Given the description of an element on the screen output the (x, y) to click on. 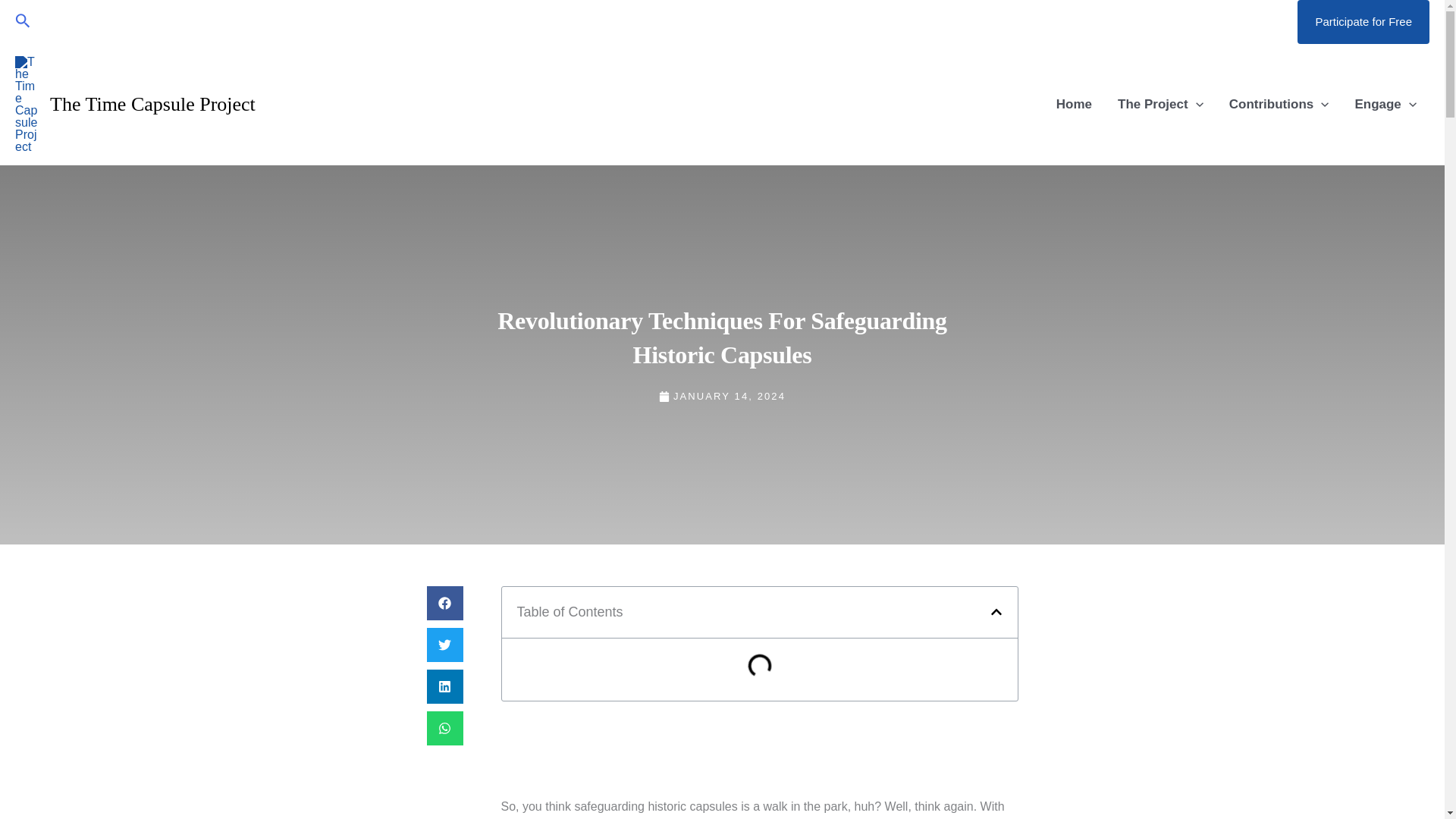
Search (22, 22)
Contributions (1278, 104)
The Time Capsule Project (152, 104)
The Project (1160, 104)
Home (1074, 104)
Participate for Free (1363, 22)
Engage (1384, 104)
